Given the description of an element on the screen output the (x, y) to click on. 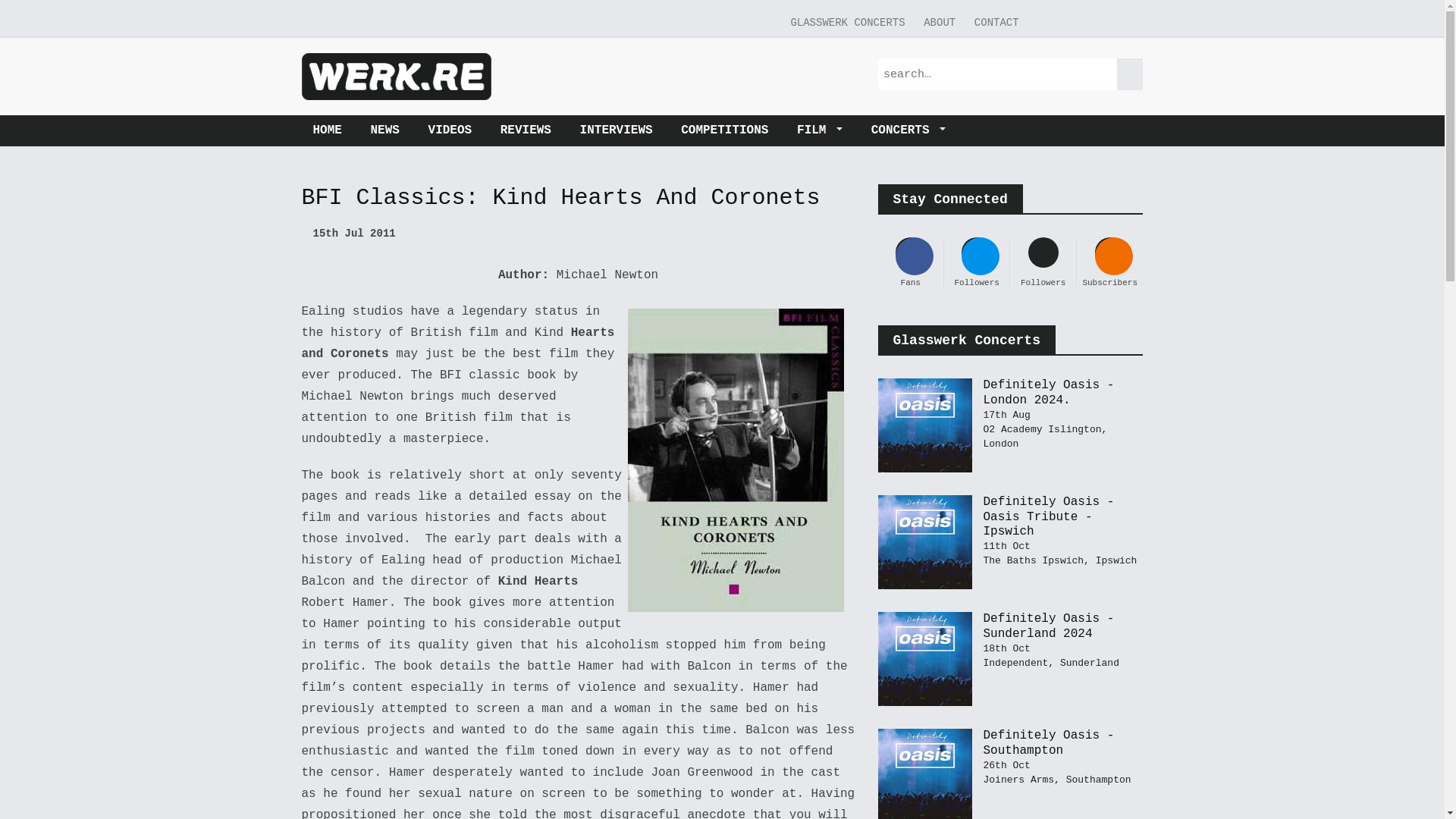
Fans (910, 262)
REVIEWS (525, 130)
NEWS (384, 130)
Followers (1042, 262)
News (384, 130)
COMPETITIONS (723, 130)
INTERVIEWS (616, 130)
facebook (1047, 14)
Reviews (525, 130)
CONTACT (996, 22)
Home (332, 130)
Interviews (616, 130)
Competitions (723, 130)
VIDEOS (450, 130)
Followers (976, 262)
